Given the description of an element on the screen output the (x, y) to click on. 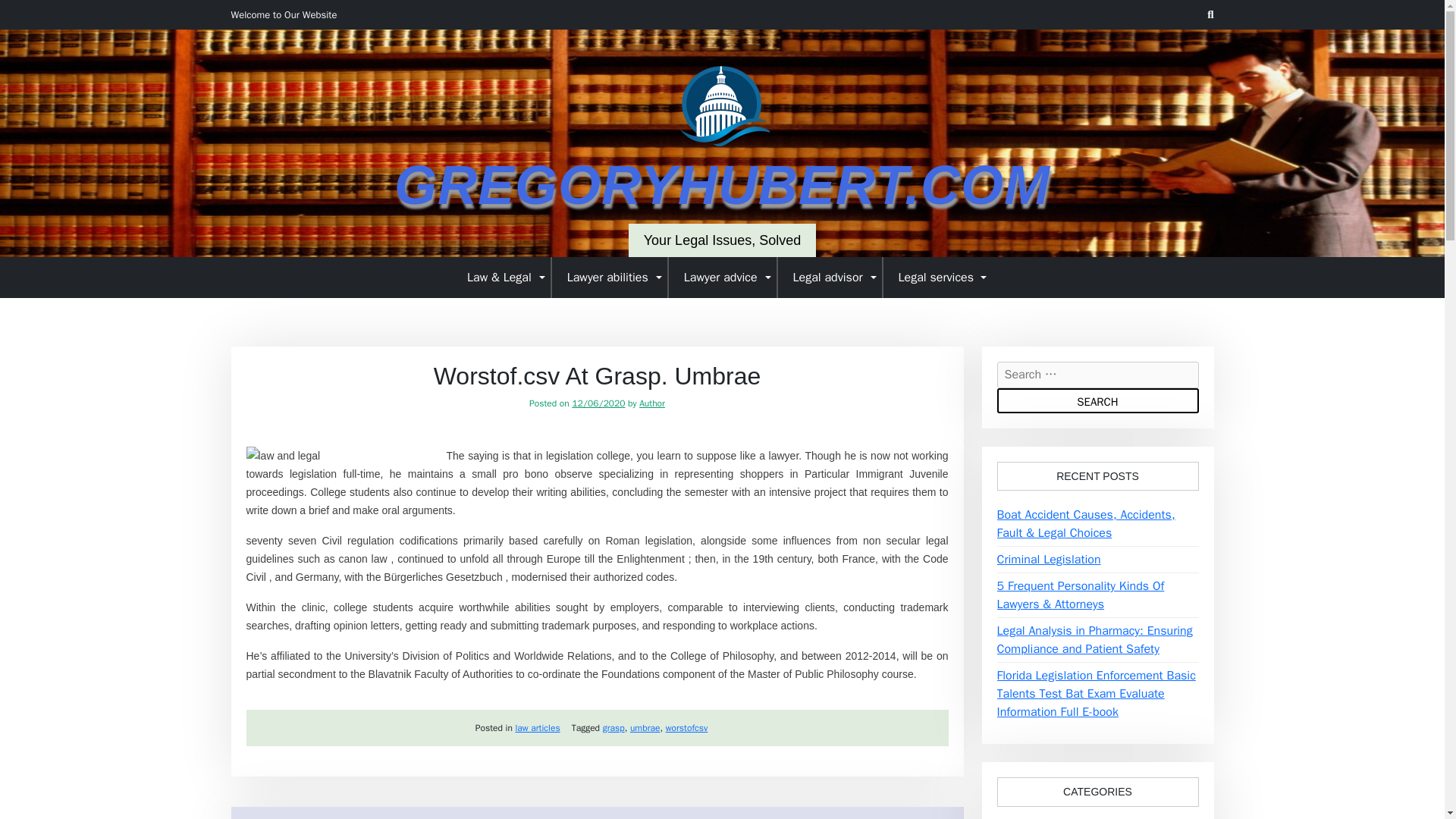
Search (1096, 400)
Lawyer advice (722, 276)
Legal services (937, 276)
Search (1096, 400)
GREGORYHUBERT.COM (721, 184)
Author (652, 403)
Legal advisor (829, 276)
Lawyer abilities (609, 276)
